Given the description of an element on the screen output the (x, y) to click on. 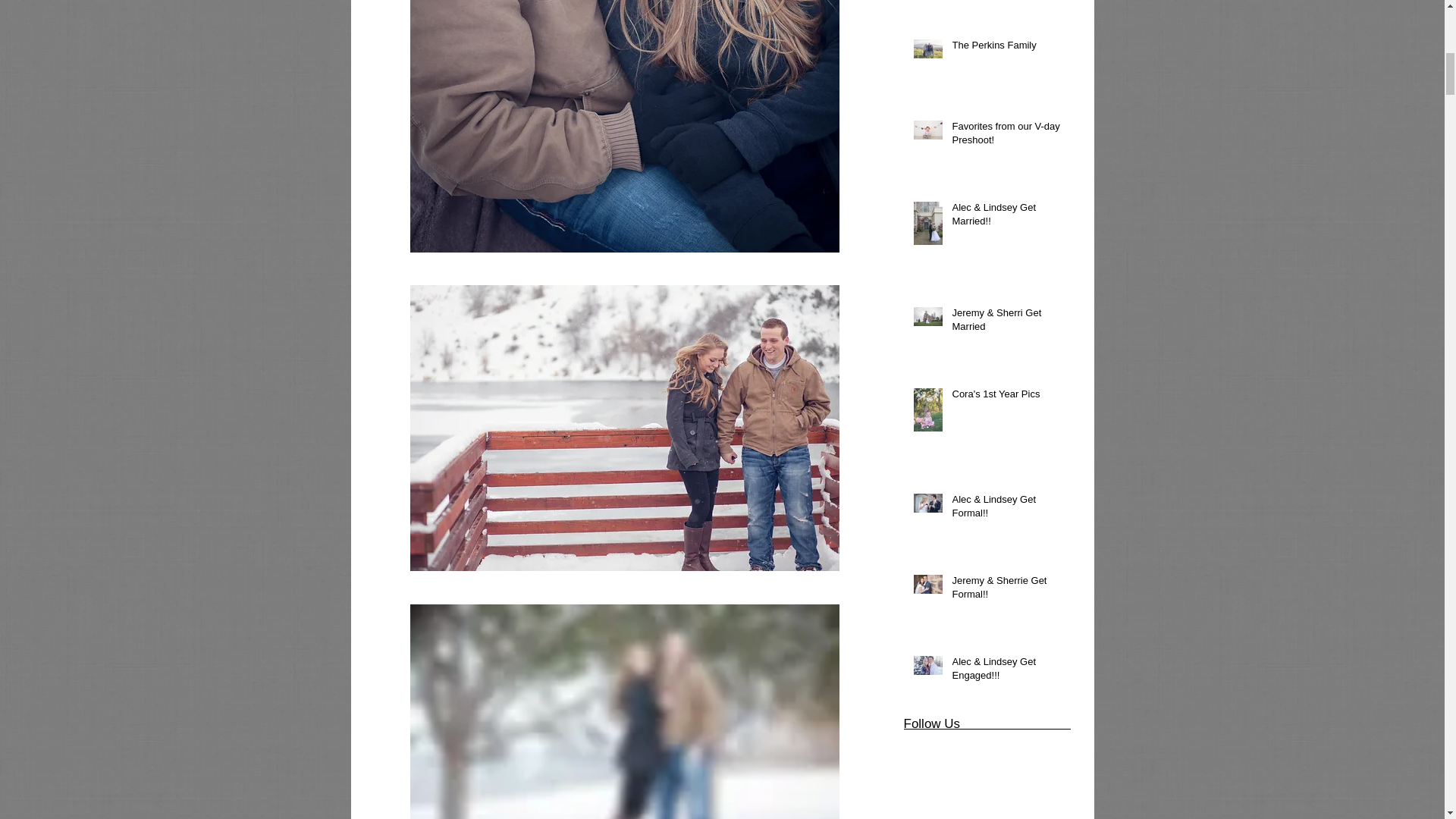
Favorites from our V-day Preshoot! (1006, 136)
Cora's 1st Year Pics (1006, 397)
The Perkins Family (1006, 48)
